Given the description of an element on the screen output the (x, y) to click on. 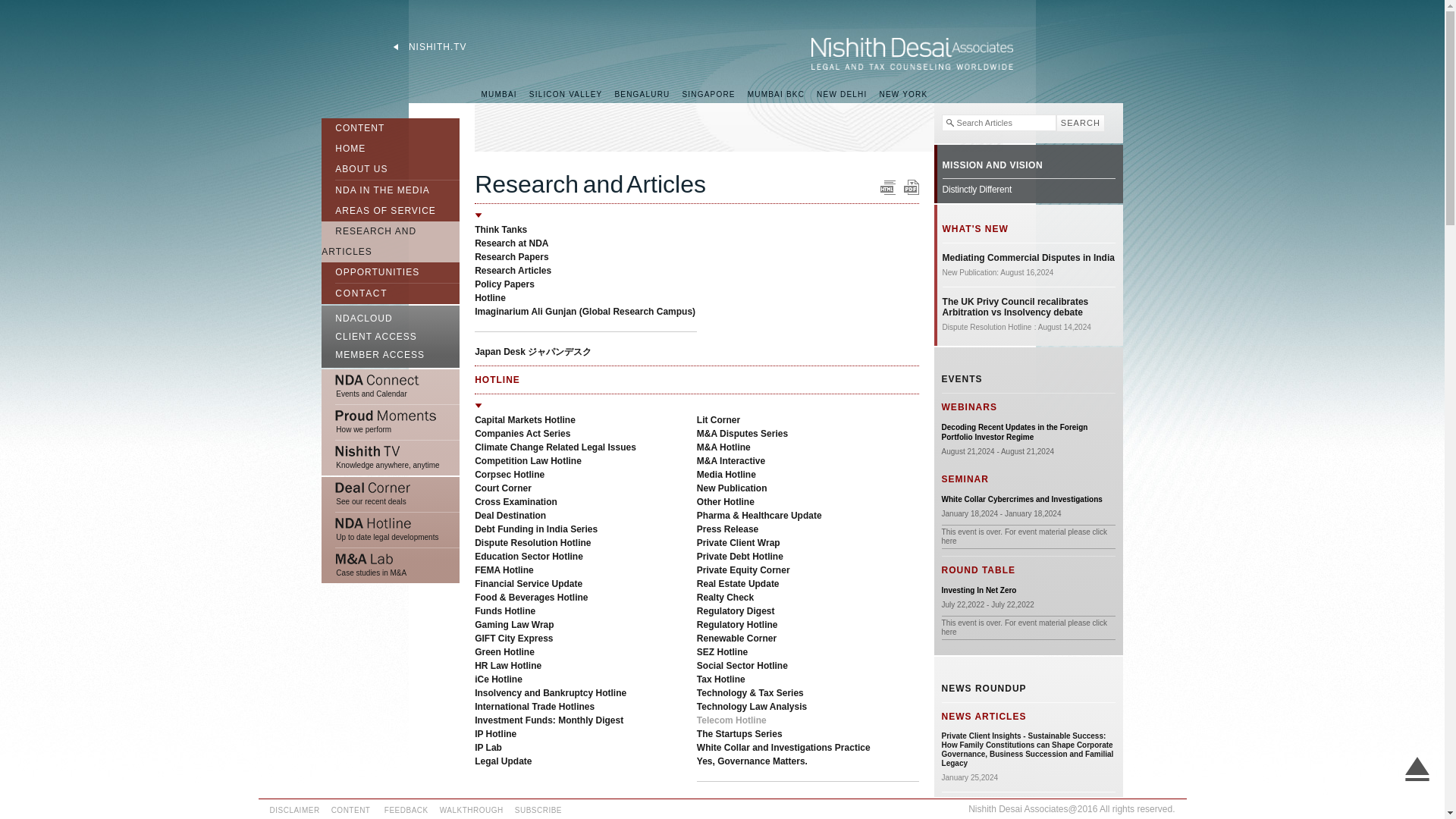
CLIENT ACCESS (390, 336)
NDACLOUD (390, 316)
AREAS OF SERVICE (378, 210)
RESEARCH AND ARTICLES (368, 241)
How we perform (390, 422)
Conference (1022, 499)
SINGAPORE (708, 94)
Hotline (489, 297)
Up to date legal developments (390, 529)
